Given the description of an element on the screen output the (x, y) to click on. 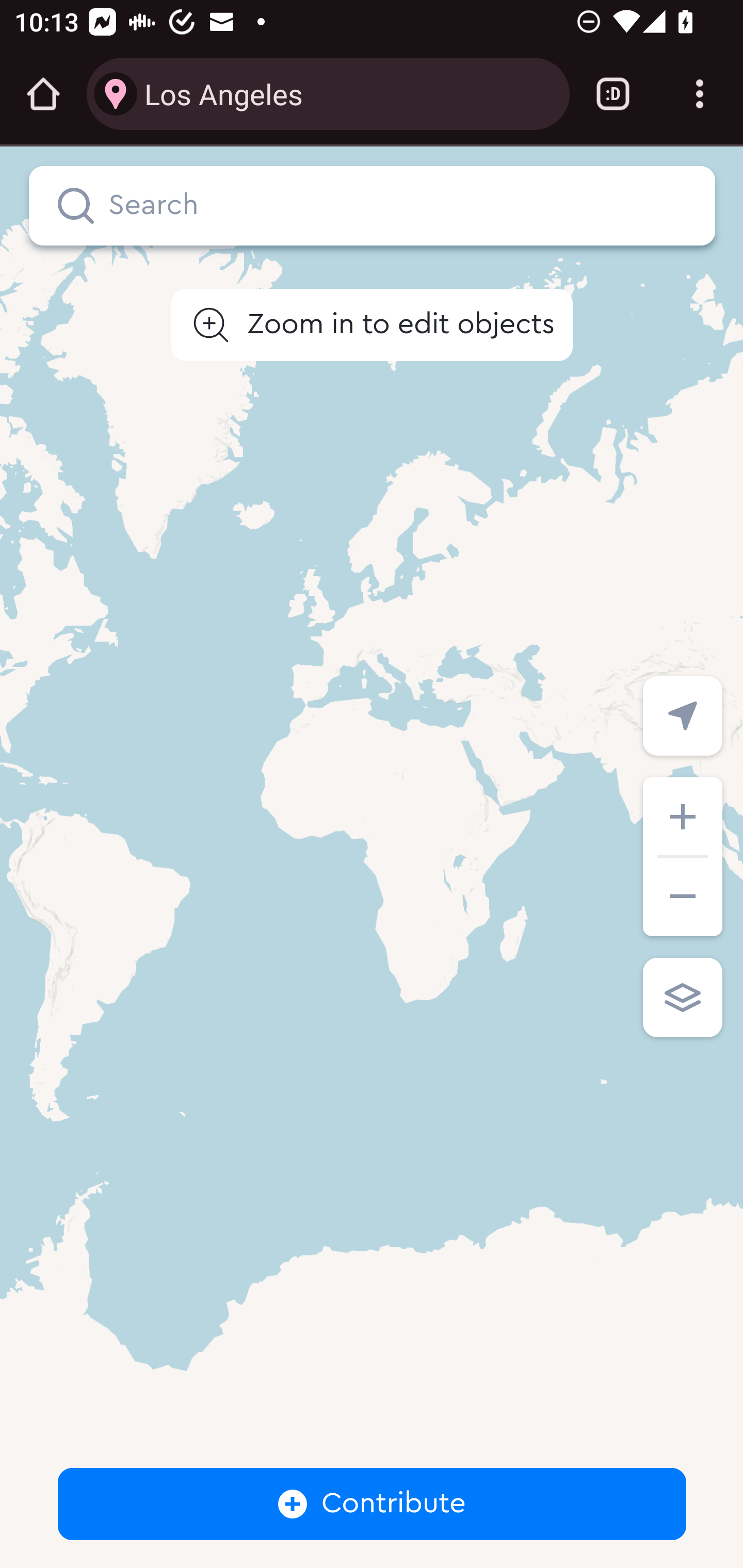
Open the home page (43, 93)
Connection is secure (115, 93)
Switch or close tabs (612, 93)
Customize and control Google Chrome (699, 93)
Los Angeles (349, 92)
Find places (76, 206)
Contribute (372, 1504)
